Given the description of an element on the screen output the (x, y) to click on. 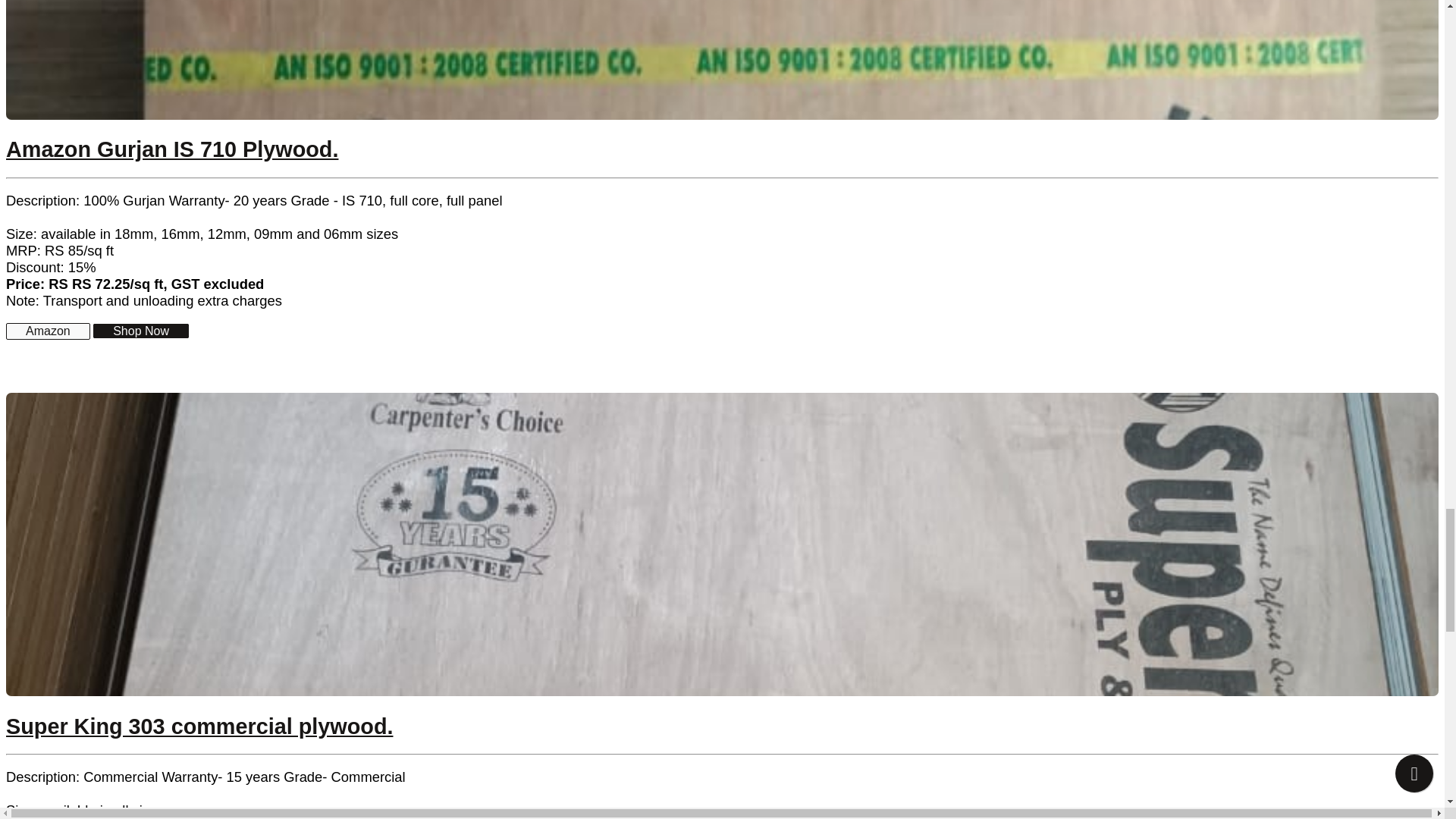
Amazon (47, 330)
Amazon (47, 330)
Shop Now (141, 330)
Amazon Gurjan IS 710 Plywood. (171, 149)
